Given the description of an element on the screen output the (x, y) to click on. 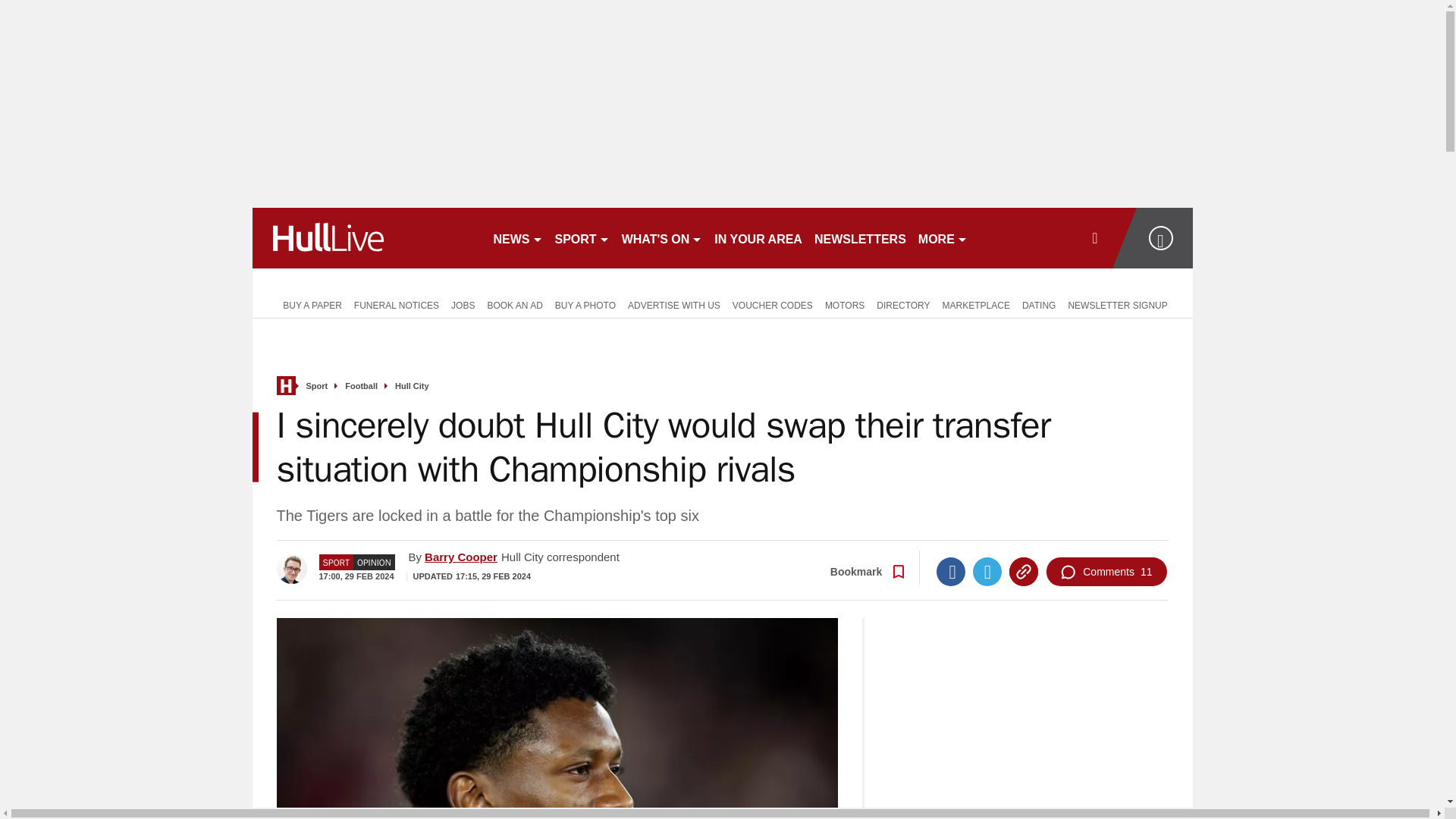
SPORT (581, 238)
hulldailymail (365, 238)
WHAT'S ON (662, 238)
Twitter (986, 571)
Facebook (950, 571)
NEWS (517, 238)
IN YOUR AREA (757, 238)
NEWSLETTERS (860, 238)
MORE (943, 238)
Comments (1105, 571)
